Given the description of an element on the screen output the (x, y) to click on. 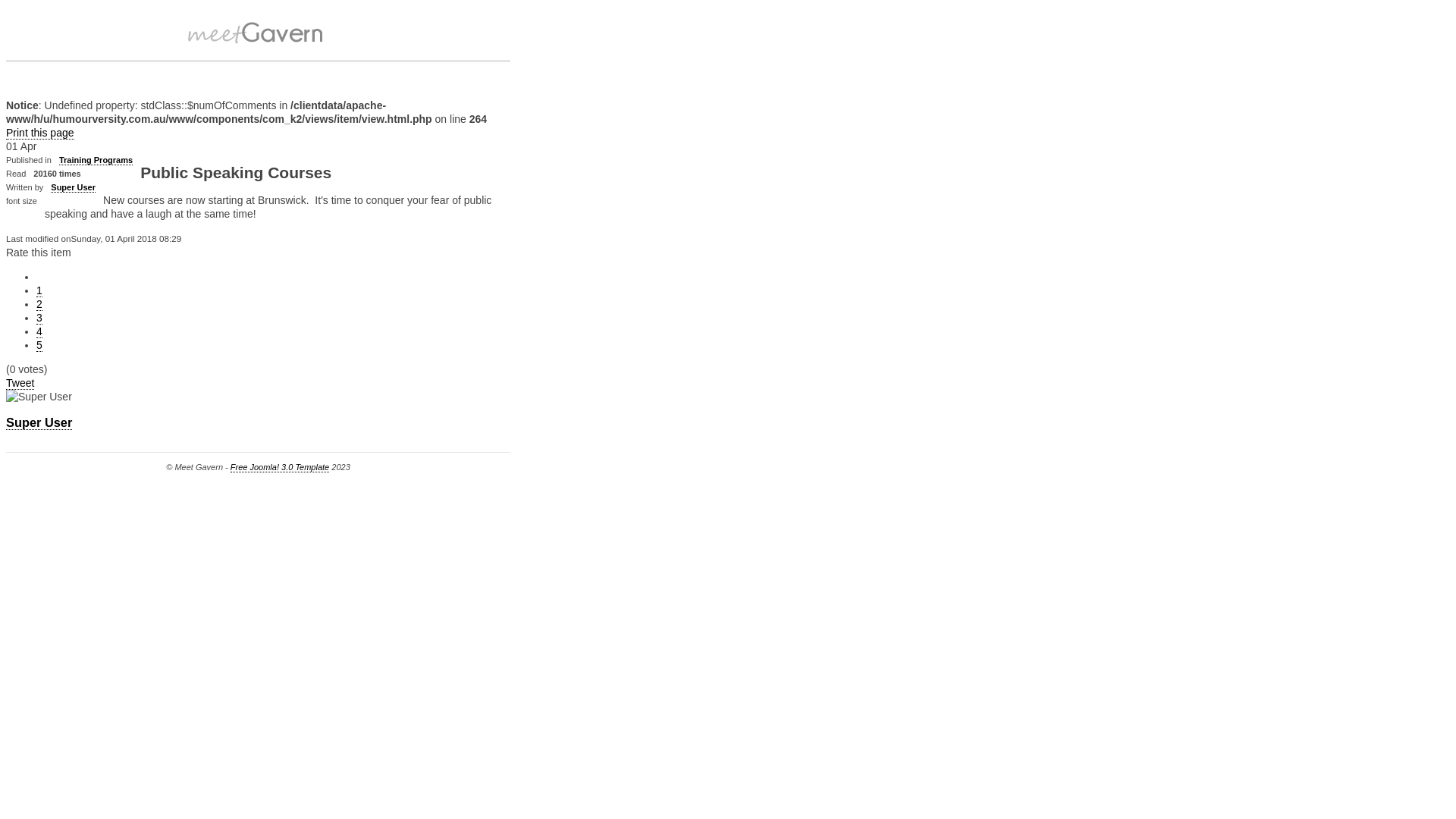
Super User Element type: text (72, 187)
5 Element type: text (39, 344)
2 Element type: text (39, 304)
Super User Element type: text (39, 422)
4 Element type: text (39, 331)
Print this page Element type: text (40, 132)
3 Element type: text (39, 317)
Tweet Element type: text (20, 382)
Free Joomla! 3.0 Template Element type: text (279, 467)
Training Programs Element type: text (95, 160)
1 Element type: text (39, 290)
